Given the description of an element on the screen output the (x, y) to click on. 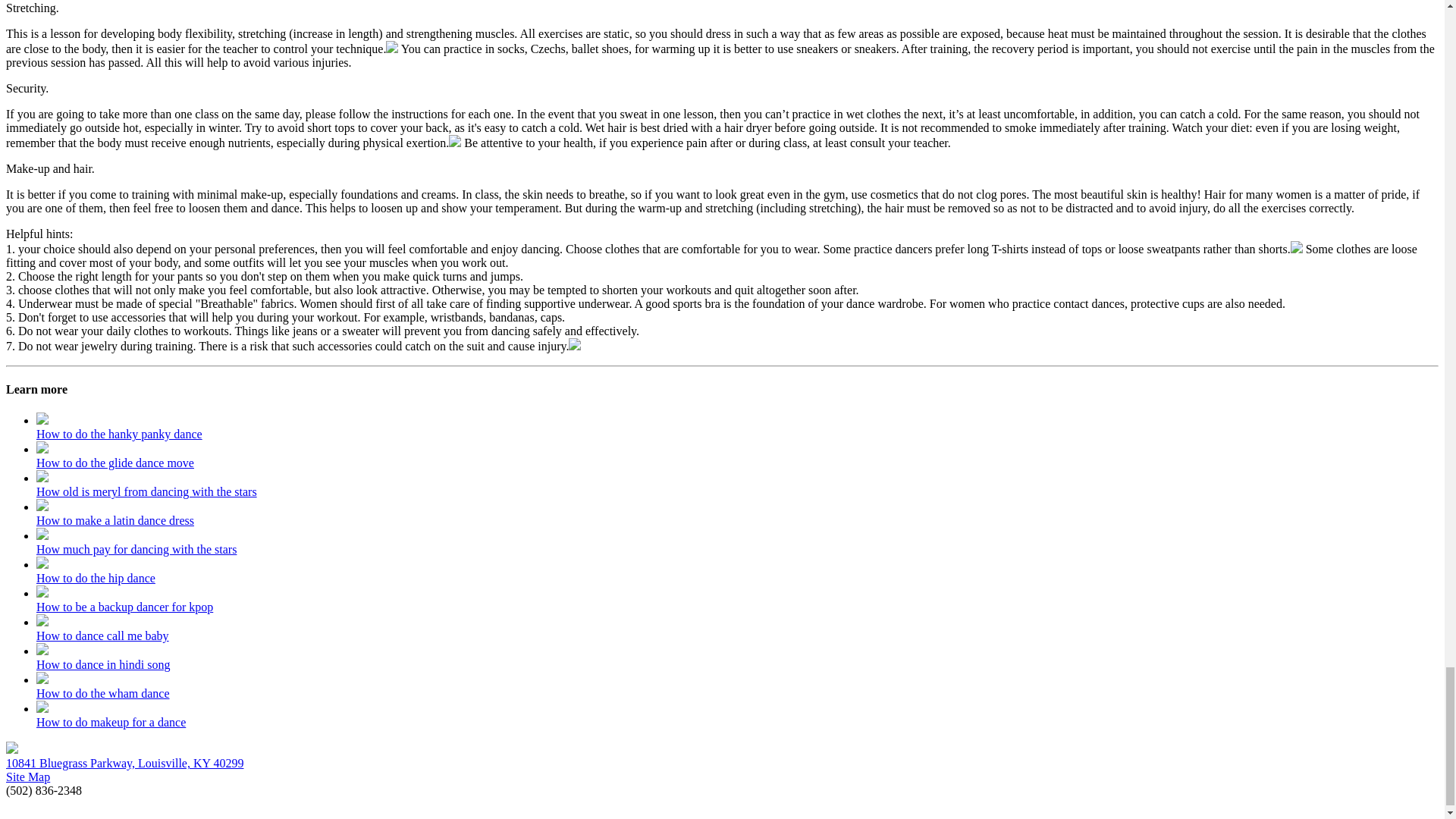
10841 Bluegrass Parkway, Louisville, KY 40299 (124, 762)
